Given the description of an element on the screen output the (x, y) to click on. 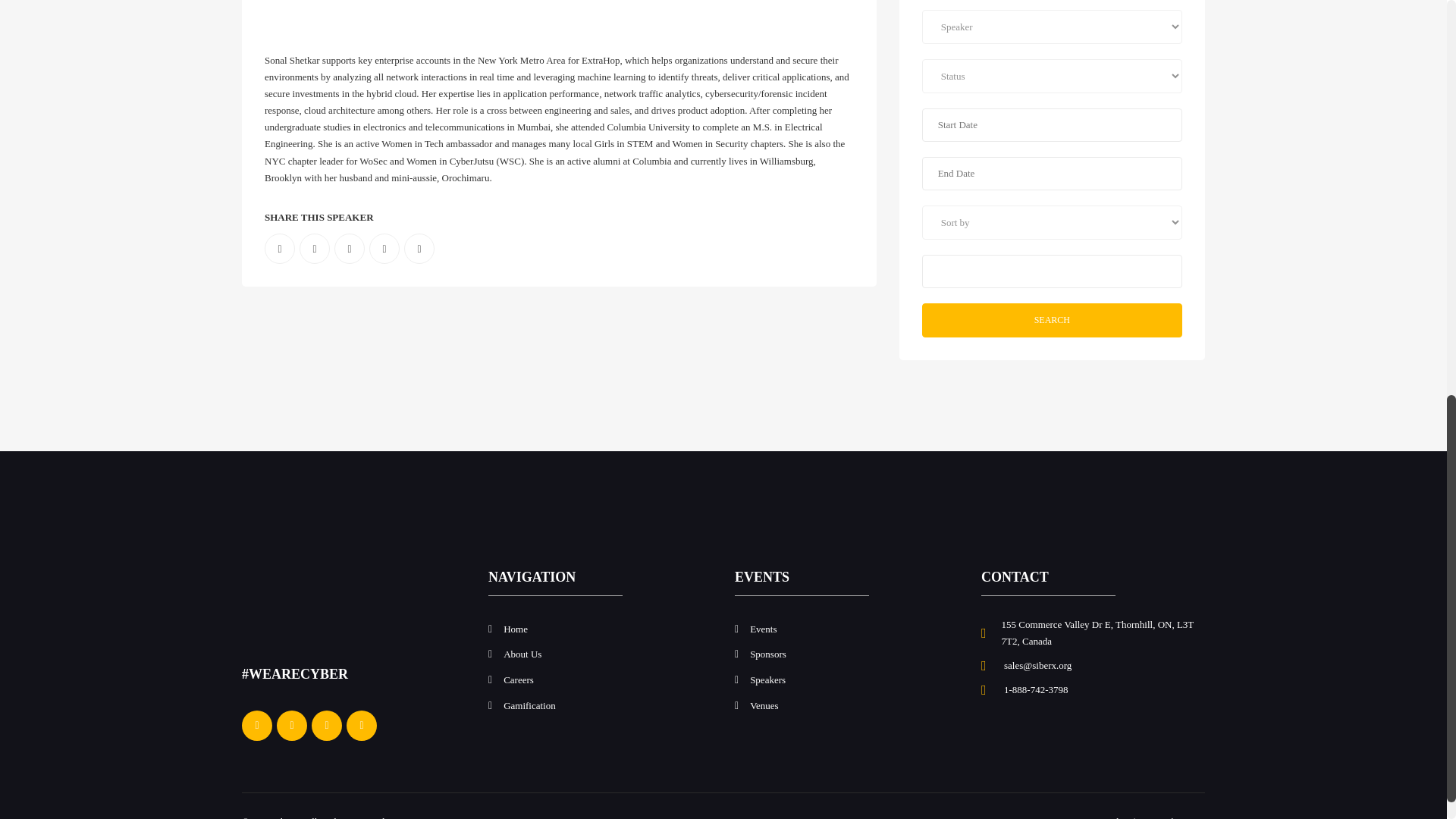
siberX Footer (298, 606)
